Given the description of an element on the screen output the (x, y) to click on. 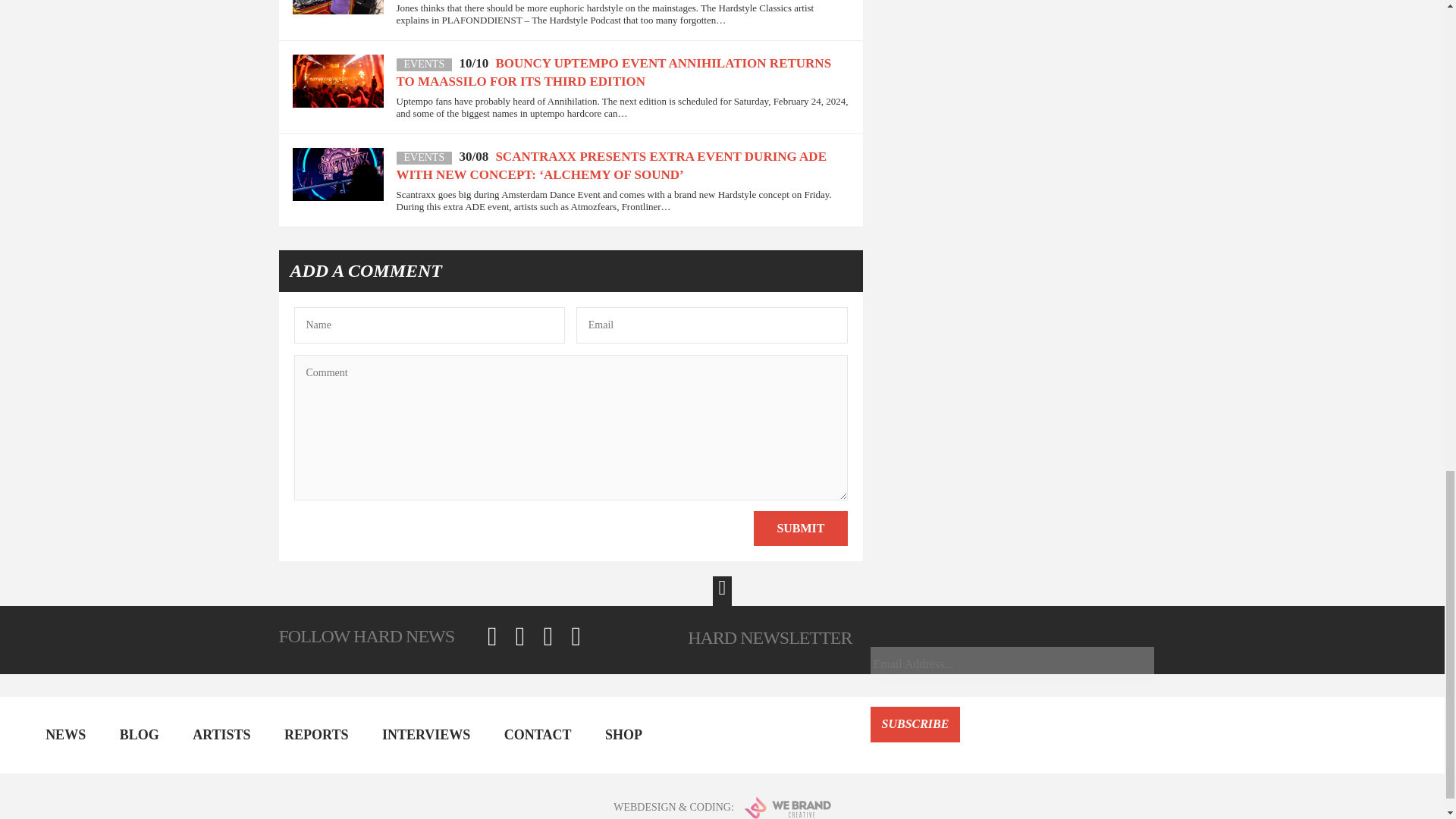
Submit (800, 528)
Subscribe (915, 724)
Submit (800, 528)
